Given the description of an element on the screen output the (x, y) to click on. 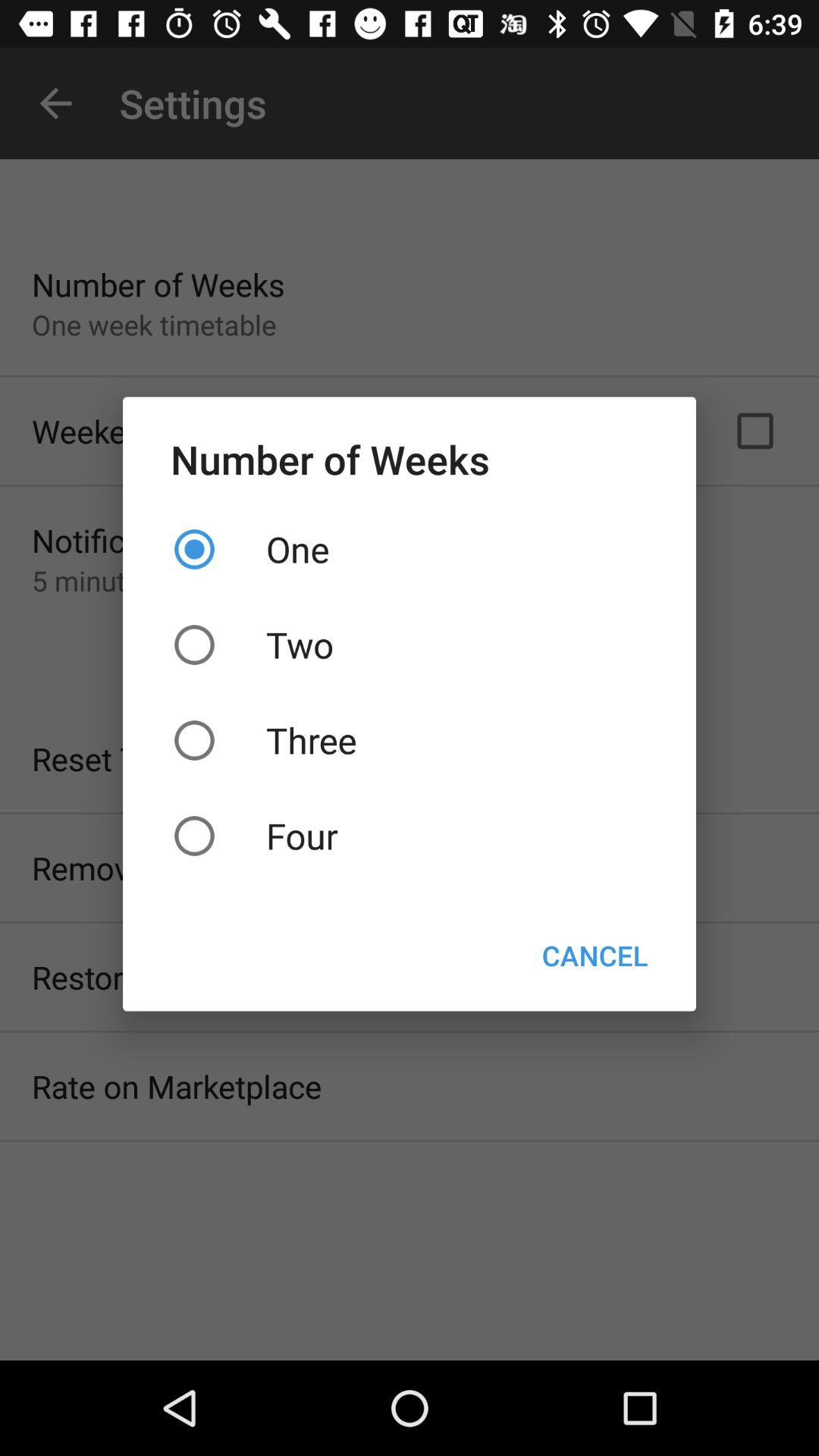
tap cancel button (595, 955)
